Given the description of an element on the screen output the (x, y) to click on. 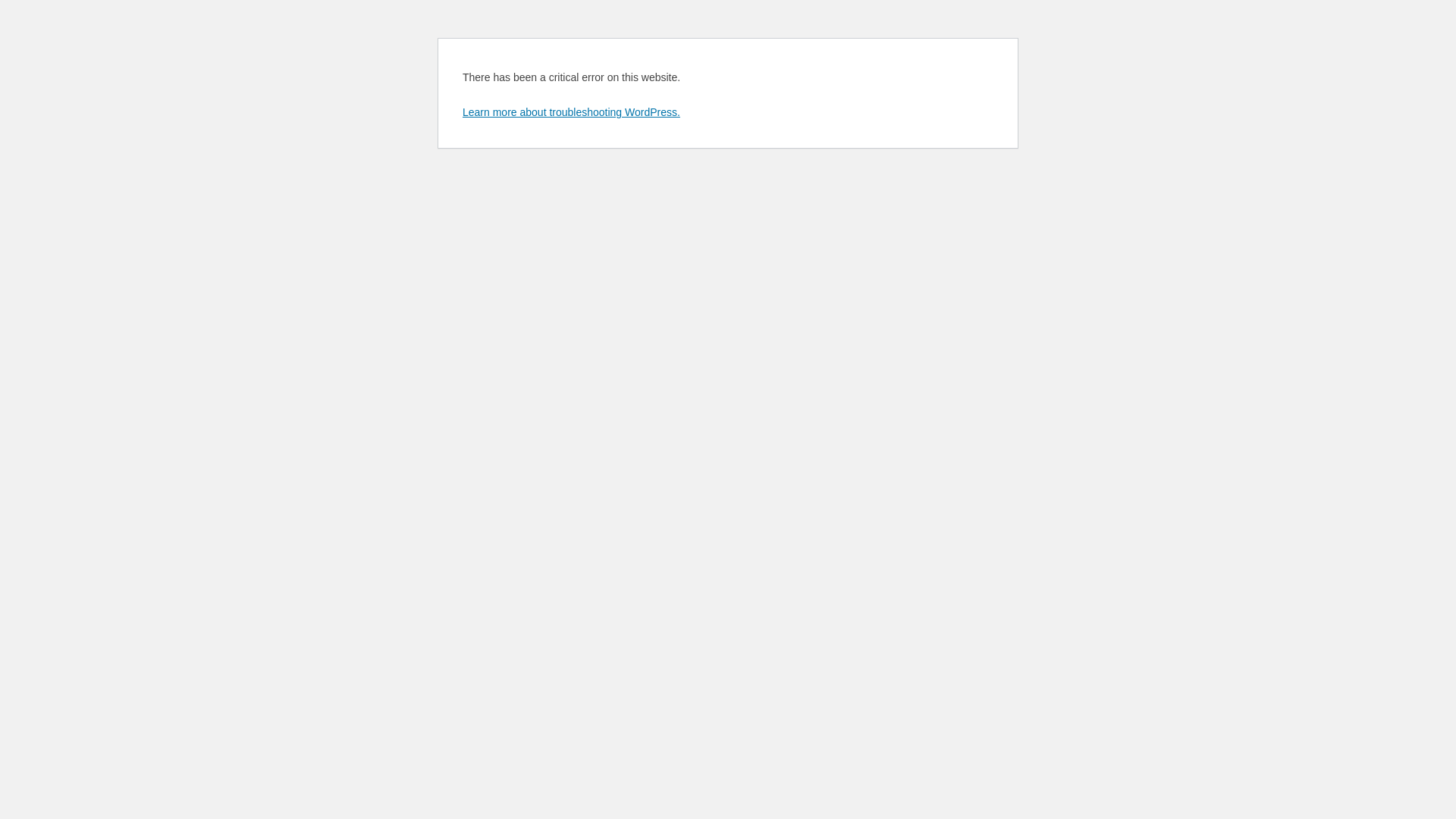
Learn more about troubleshooting WordPress. Element type: text (571, 112)
